Given the description of an element on the screen output the (x, y) to click on. 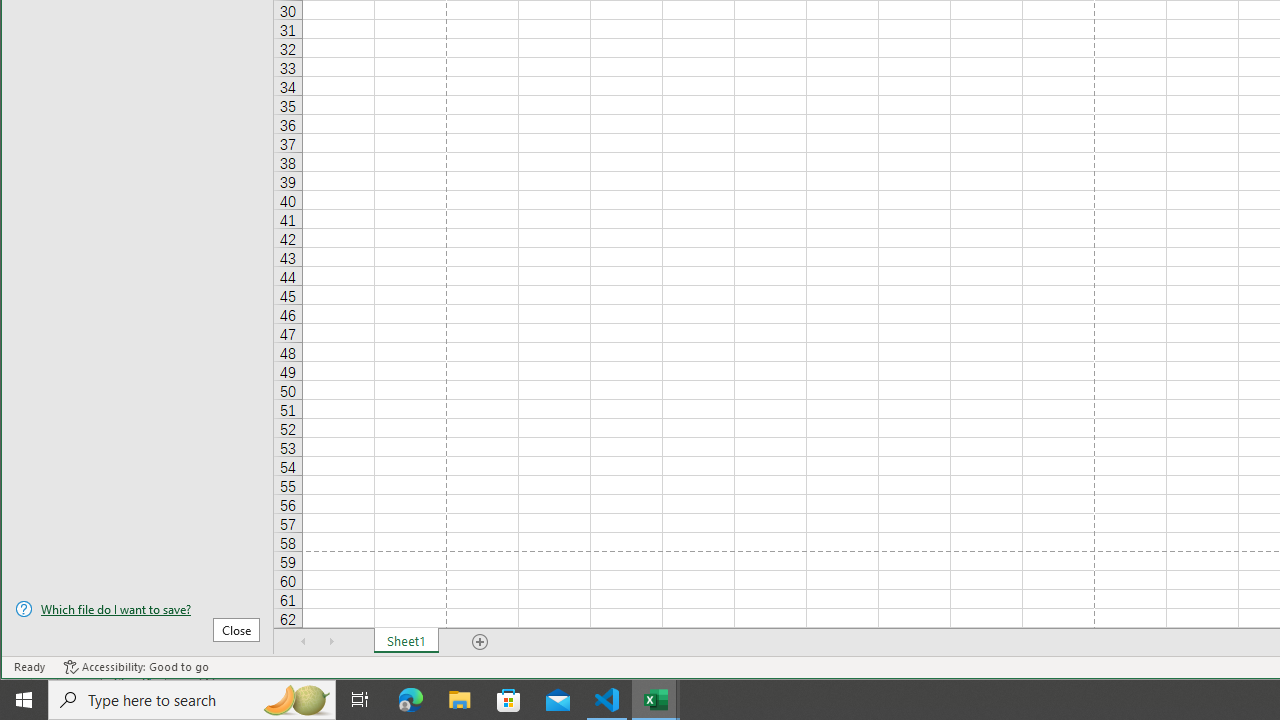
Type here to search (191, 699)
Search highlights icon opens search home window (295, 699)
Excel - 2 running windows (656, 699)
Microsoft Store (509, 699)
Start (24, 699)
File Explorer (460, 699)
Microsoft Edge (411, 699)
Task View (359, 699)
Visual Studio Code - 1 running window (607, 699)
